Given the description of an element on the screen output the (x, y) to click on. 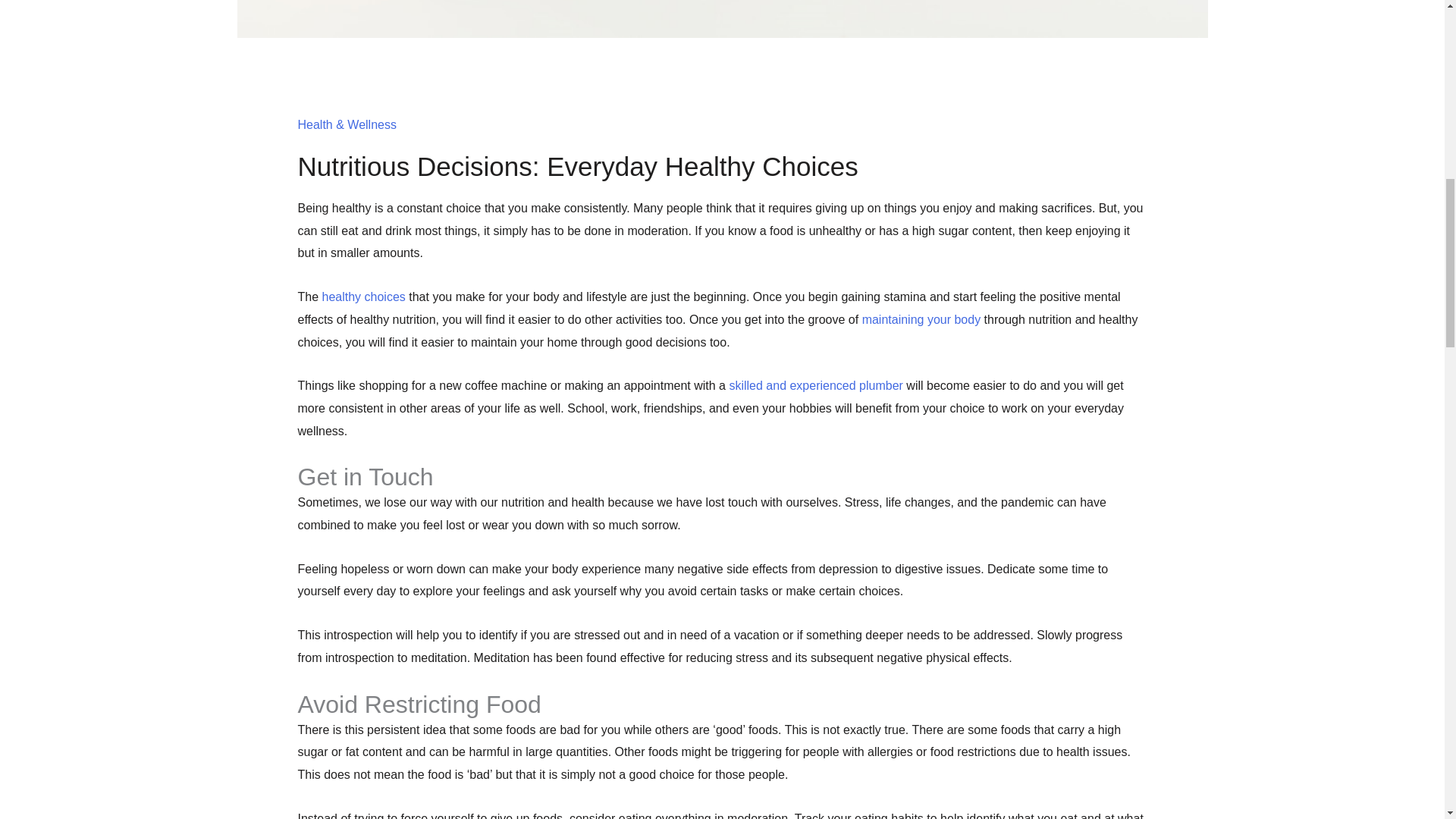
skilled and experienced plumber (815, 385)
healthy choices (363, 296)
maintaining your body (921, 318)
